Given the description of an element on the screen output the (x, y) to click on. 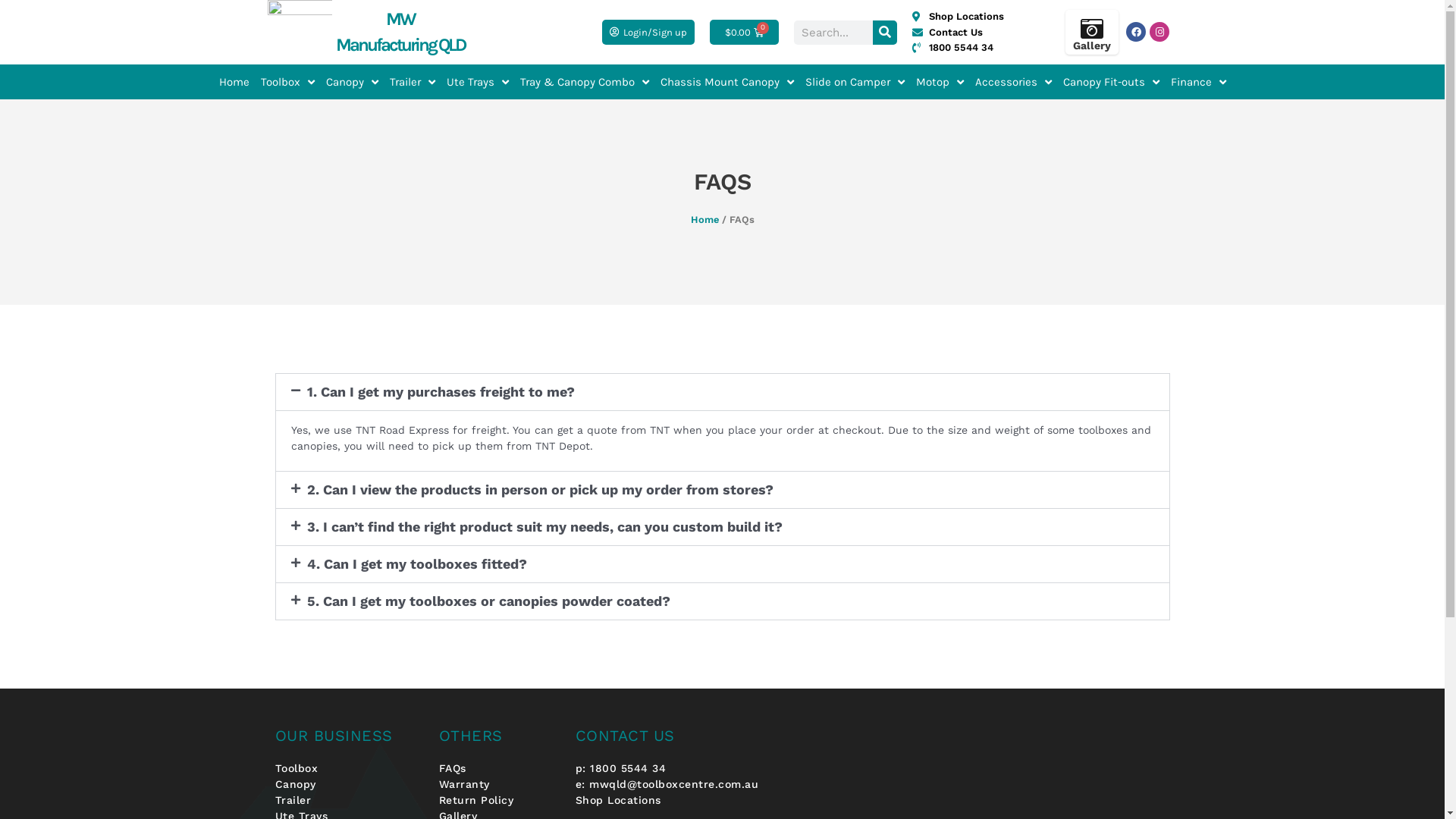
Shop Locations Element type: text (680, 800)
Accessories Element type: text (1013, 81)
Instagram Element type: text (1159, 31)
4. Can I get my toolboxes fitted? Element type: text (416, 563)
Trailer Element type: text (348, 800)
Canopy Element type: text (348, 784)
Slide on Camper Element type: text (854, 81)
Facebook Element type: text (1135, 31)
MW
Manufacturing QLD Element type: text (399, 31)
Tray & Canopy Combo Element type: text (584, 81)
FAQs Element type: text (498, 768)
1. Can I get my purchases freight to me? Element type: text (440, 391)
Motop Element type: text (939, 81)
Search Element type: text (884, 31)
Ute Trays Element type: text (476, 81)
1800 5544 34 Element type: text (971, 47)
Toolbox Element type: text (348, 768)
$0.00
0
Cart Element type: text (743, 31)
Warranty Element type: text (498, 784)
5. Can I get my toolboxes or canopies powder coated? Element type: text (487, 600)
Gallery Element type: text (1091, 45)
Return Policy Element type: text (498, 800)
Chassis Mount Canopy Element type: text (726, 81)
Shop Locations Element type: text (971, 16)
p: 1800 5544 34 Element type: text (680, 768)
Login/Sign up Element type: text (648, 31)
Trailer Element type: text (412, 81)
Home Element type: text (704, 219)
e: mwqld@toolboxcentre.com.au Element type: text (680, 784)
Canopy Fit-outs Element type: text (1111, 81)
Home Element type: text (233, 81)
Toolbox Element type: text (287, 81)
Canopy Element type: text (352, 81)
Contact Us Element type: text (971, 32)
Finance Element type: text (1198, 81)
